Given the description of an element on the screen output the (x, y) to click on. 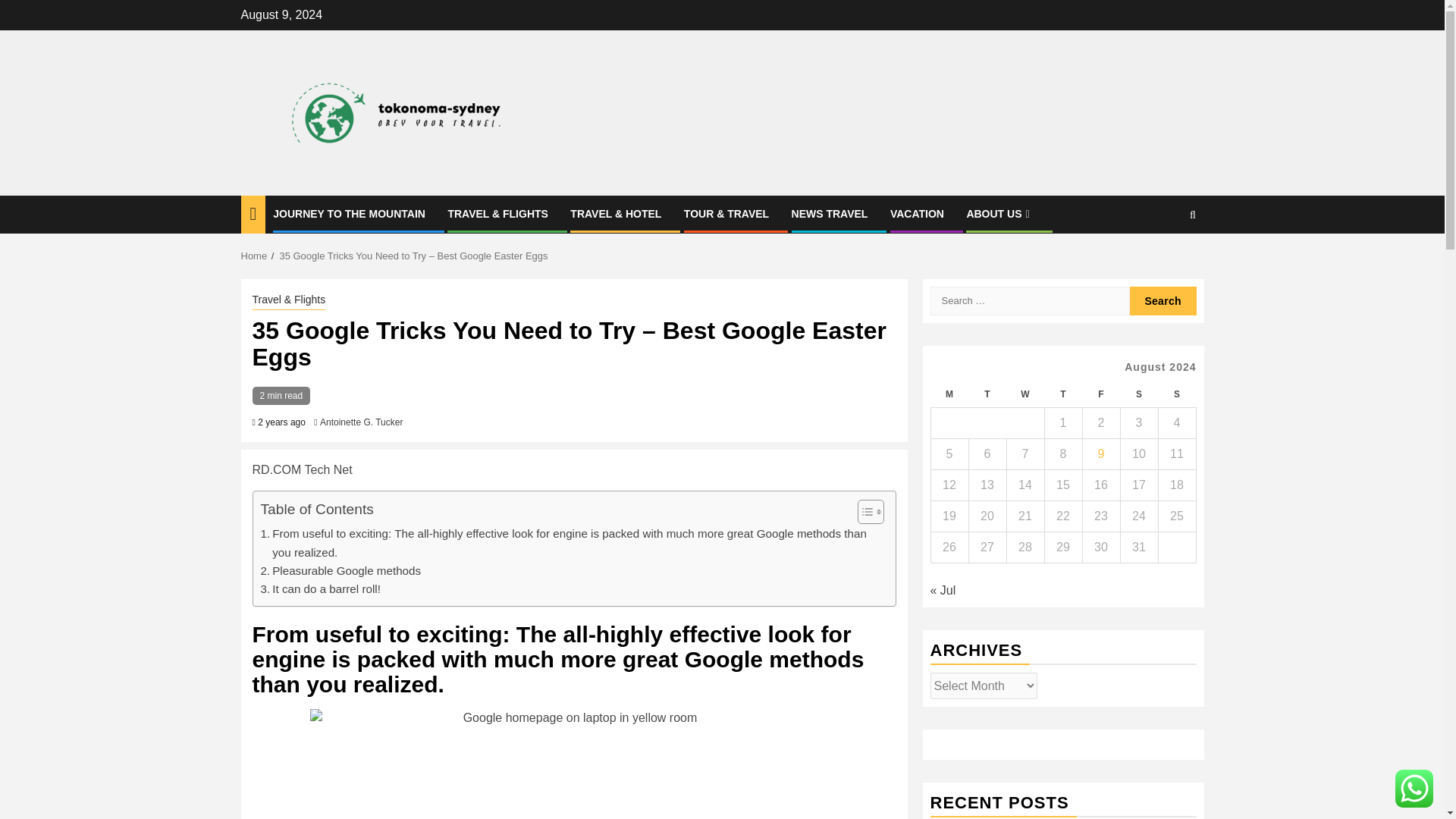
Monday (949, 394)
Search (1162, 300)
Search (1163, 261)
Thursday (1062, 394)
Sunday (1176, 394)
Pleasurable Google methods (341, 570)
It can do a barrel roll! (320, 588)
ABOUT US (999, 214)
Search (1162, 300)
JOURNEY TO THE MOUNTAIN (349, 214)
